Given the description of an element on the screen output the (x, y) to click on. 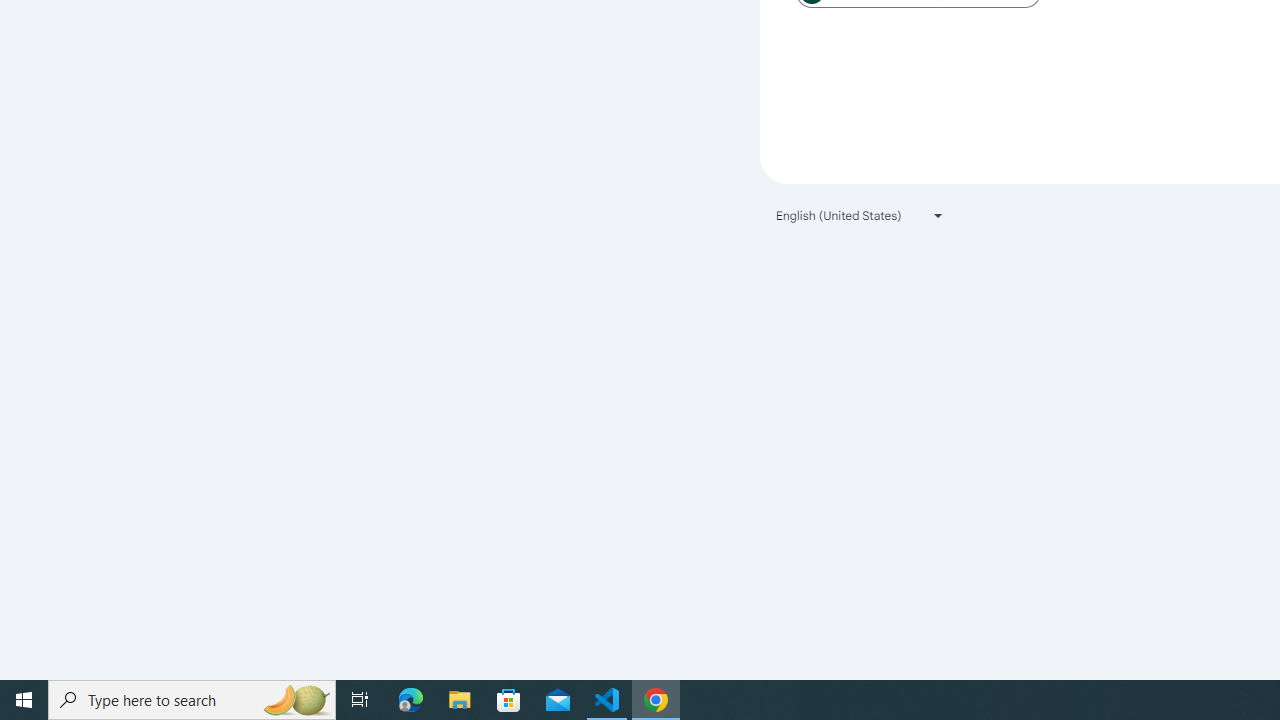
English (United States) (860, 214)
